Given the description of an element on the screen output the (x, y) to click on. 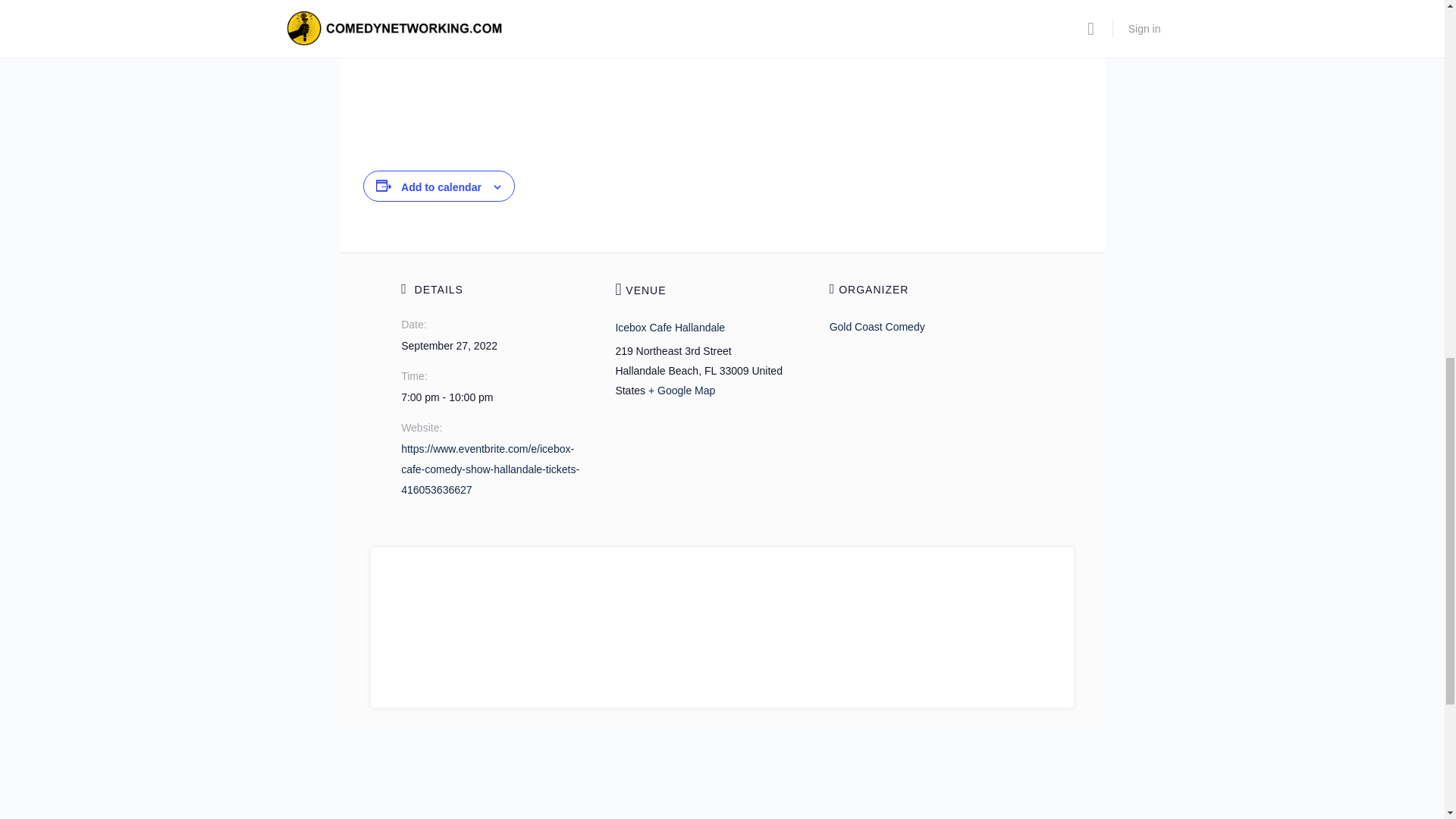
Icebox Cafe Hallandale (669, 327)
Gold Coast Comedy (876, 326)
Add to calendar (441, 186)
Florida (710, 370)
Click to view a Google Map (680, 390)
2022-09-27 (498, 397)
2022-09-27 (449, 345)
Gold Coast Comedy (876, 326)
